Given the description of an element on the screen output the (x, y) to click on. 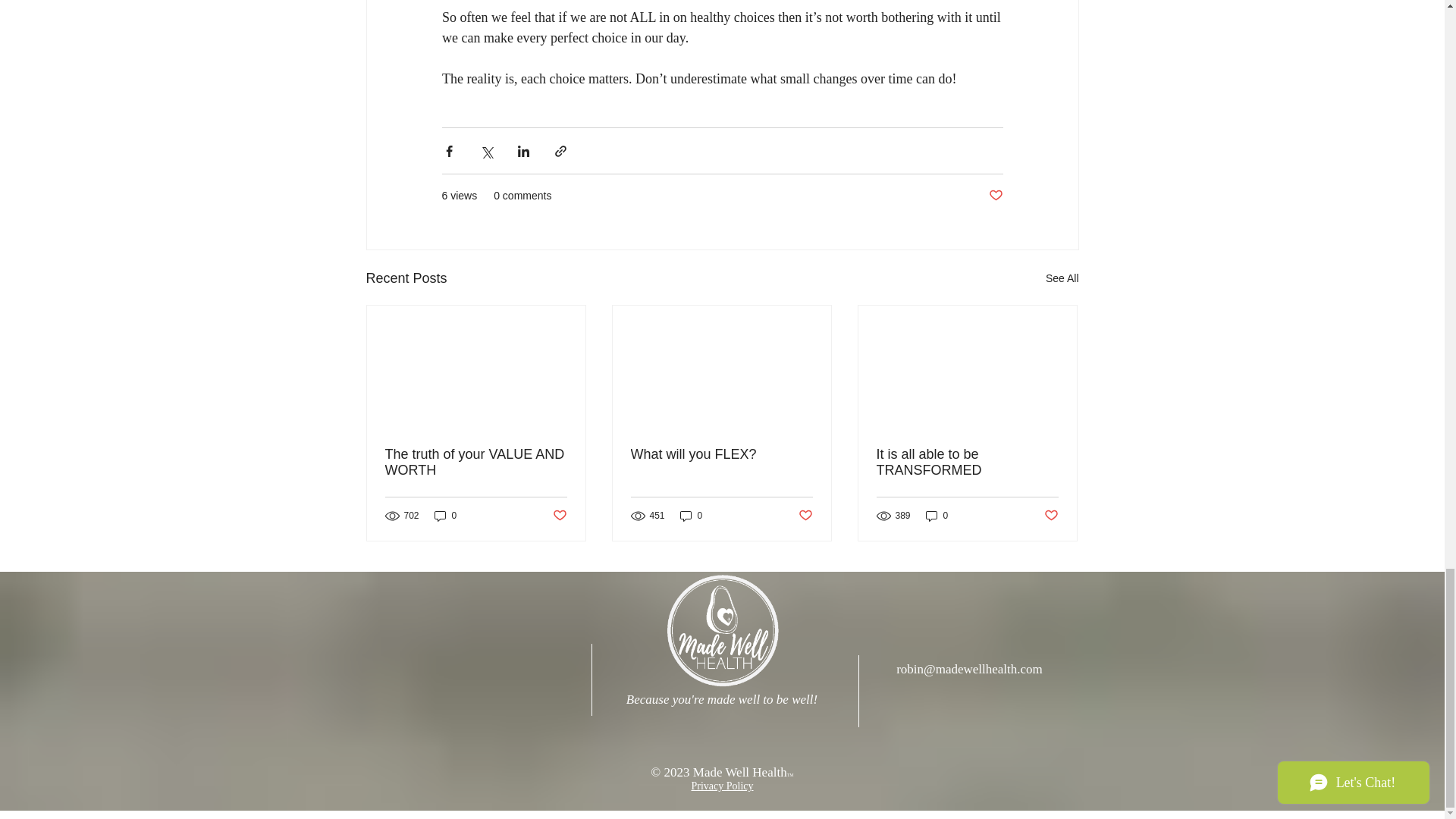
Post not marked as liked (1050, 514)
0 (937, 515)
0 (445, 515)
Post not marked as liked (558, 514)
It is all able to be TRANSFORMED (967, 462)
Privacy Policy (721, 785)
Post not marked as liked (804, 514)
Post not marked as liked (995, 195)
The truth of your VALUE AND WORTH (476, 462)
What will you FLEX? (721, 454)
See All (1061, 278)
0 (691, 515)
